Given the description of an element on the screen output the (x, y) to click on. 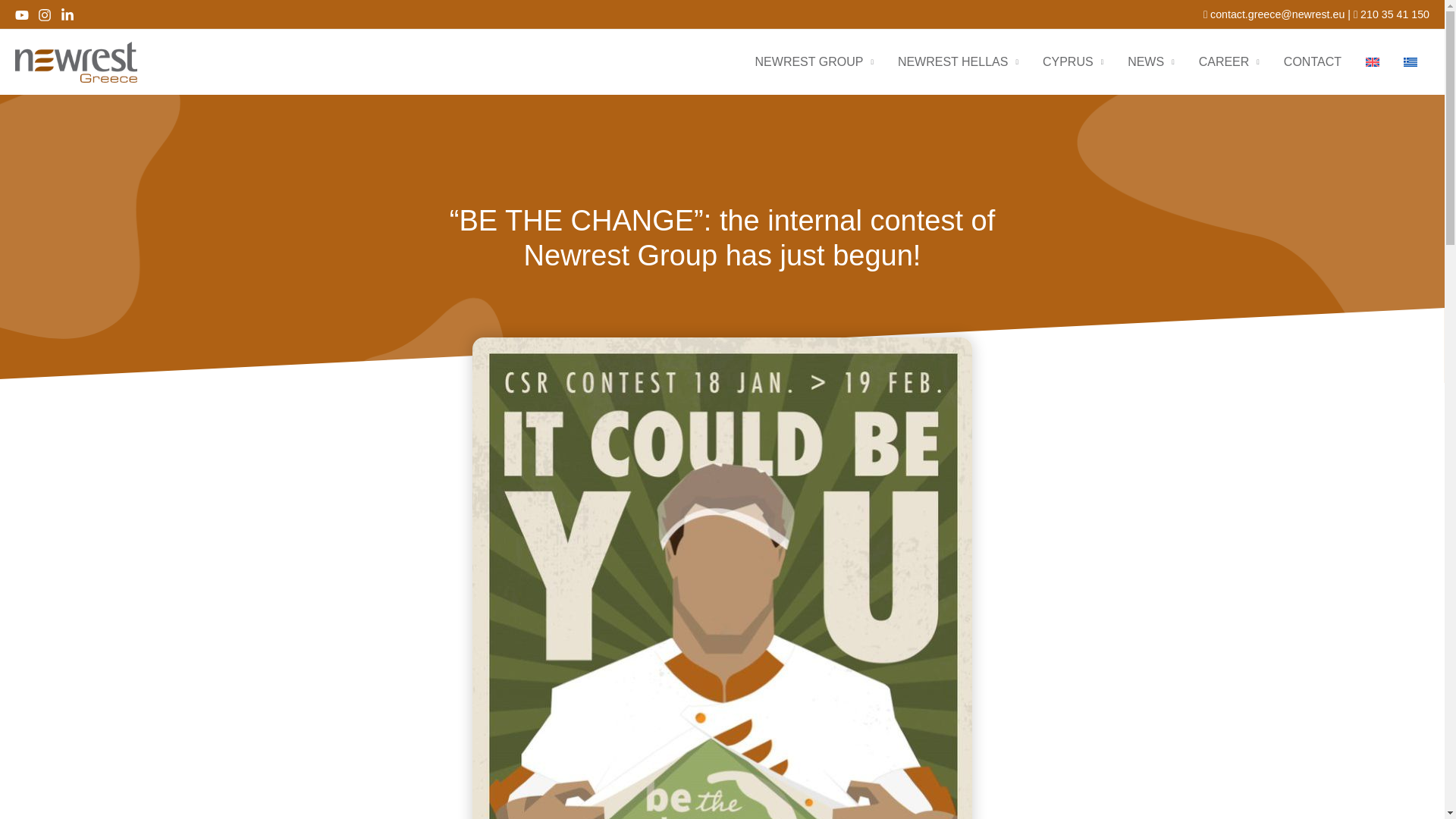
CAREER (1228, 62)
NEWREST HELLAS (957, 62)
 210 35 41 150 (1391, 14)
NEWS (1150, 62)
NEWREST GROUP (813, 62)
CYPRUS (1072, 62)
